Given the description of an element on the screen output the (x, y) to click on. 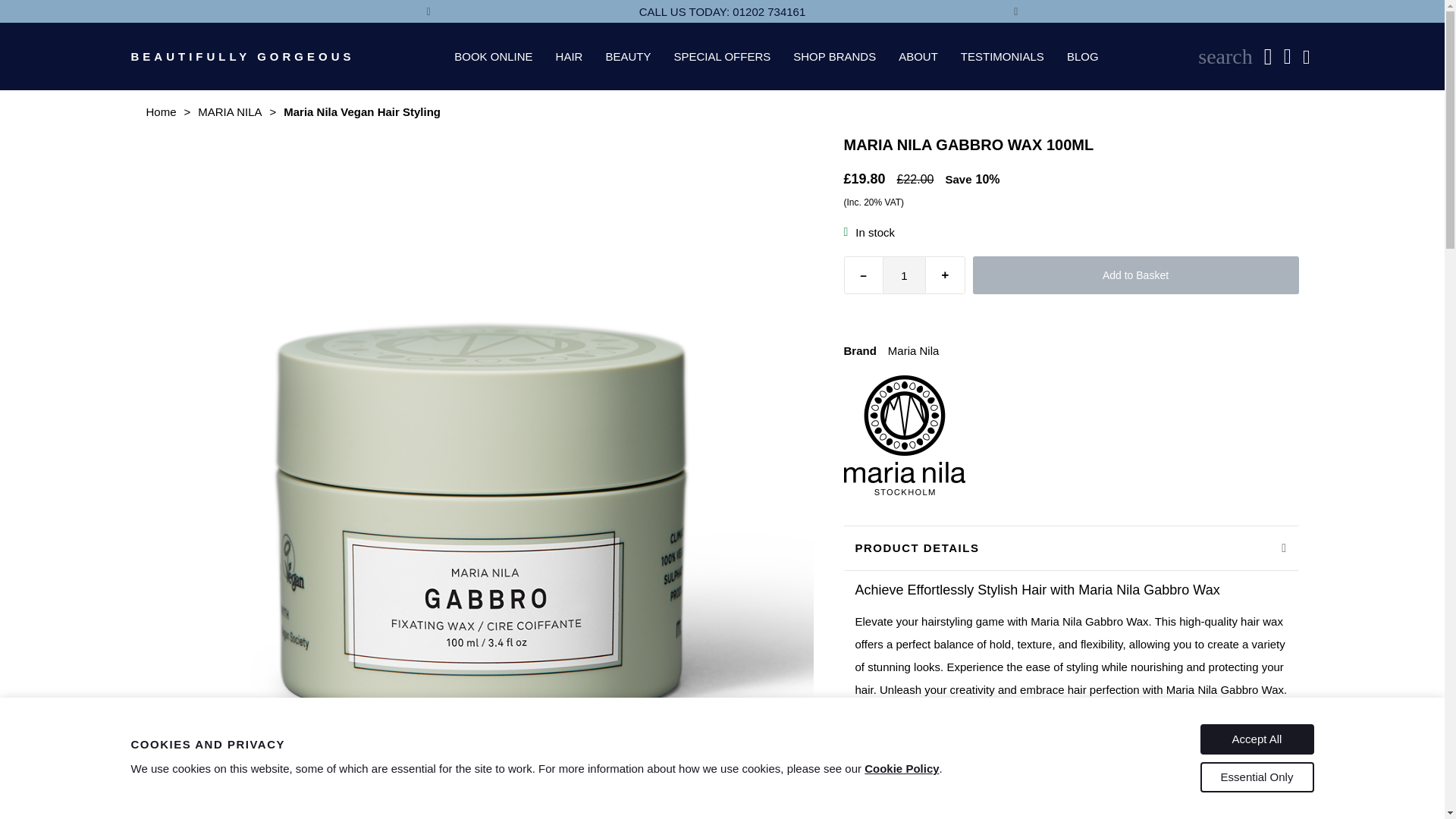
BOOK ONLINE (492, 56)
1 (904, 275)
BEAUTY (628, 56)
SPECIAL OFFERS (721, 56)
SHOP BRANDS (833, 56)
ABOUT (917, 56)
TESTIMONIALS (1002, 56)
BOOK ONLINE TODAY! - BOOK NOW (1307, 10)
